Given the description of an element on the screen output the (x, y) to click on. 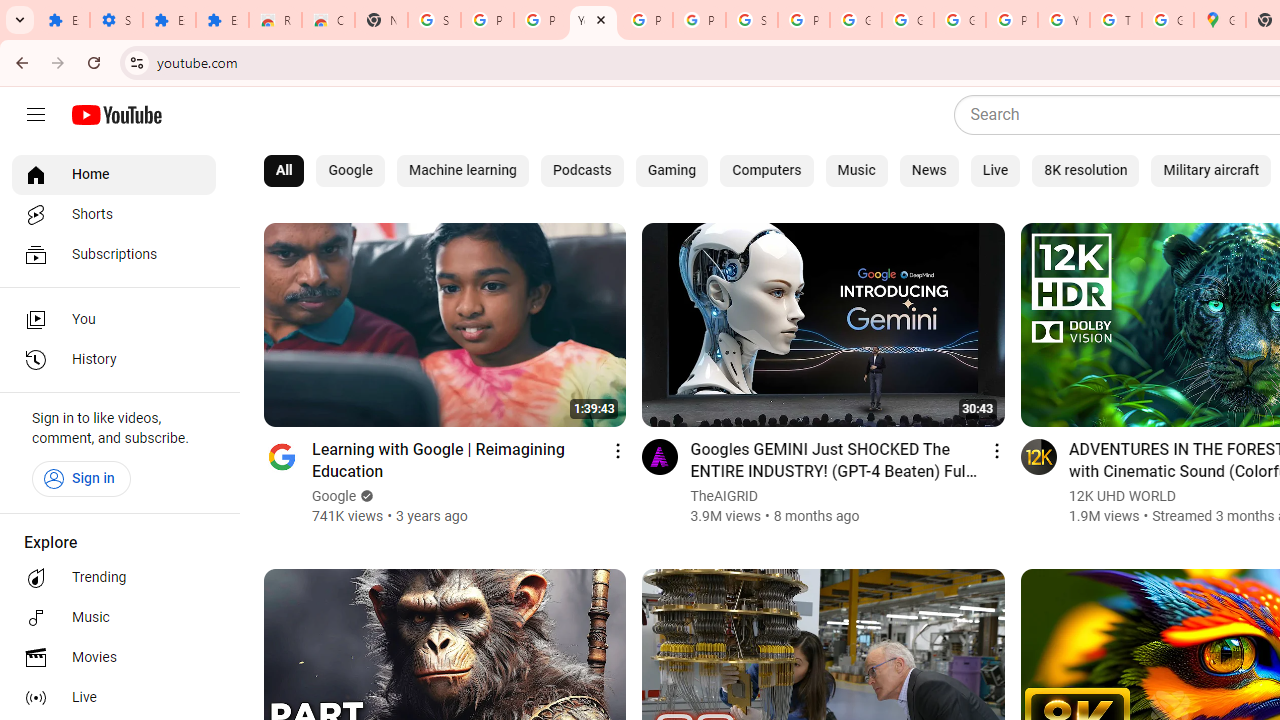
8K resolution (1085, 170)
Subscriptions (113, 254)
Live (113, 697)
Extensions (169, 20)
Google Account (907, 20)
Verified (365, 495)
Chrome Web Store - Themes (328, 20)
Guide (35, 115)
Movies (113, 657)
YouTube (593, 20)
Settings (116, 20)
Trending (113, 578)
